Given the description of an element on the screen output the (x, y) to click on. 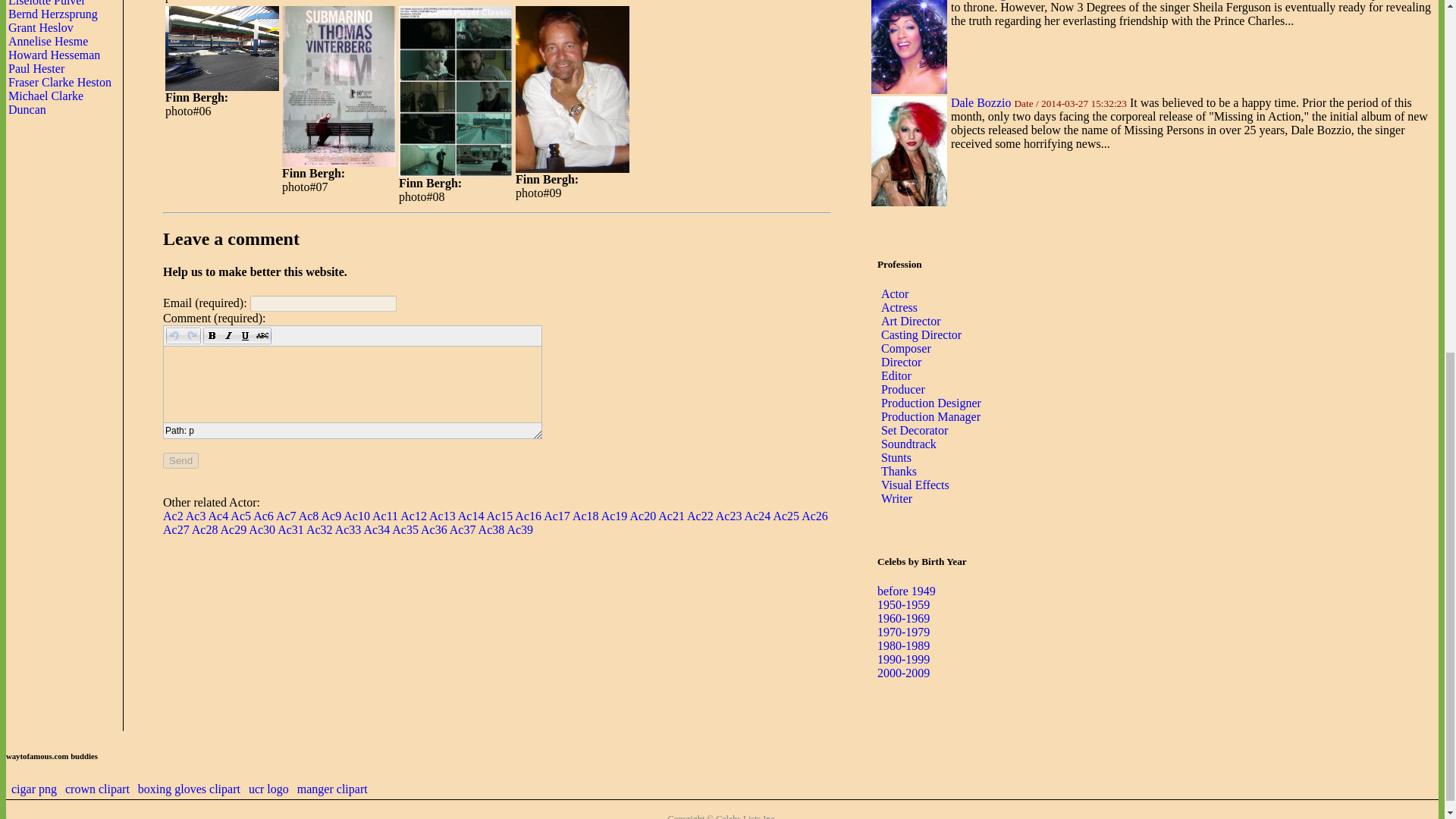
Send (180, 460)
